Given the description of an element on the screen output the (x, y) to click on. 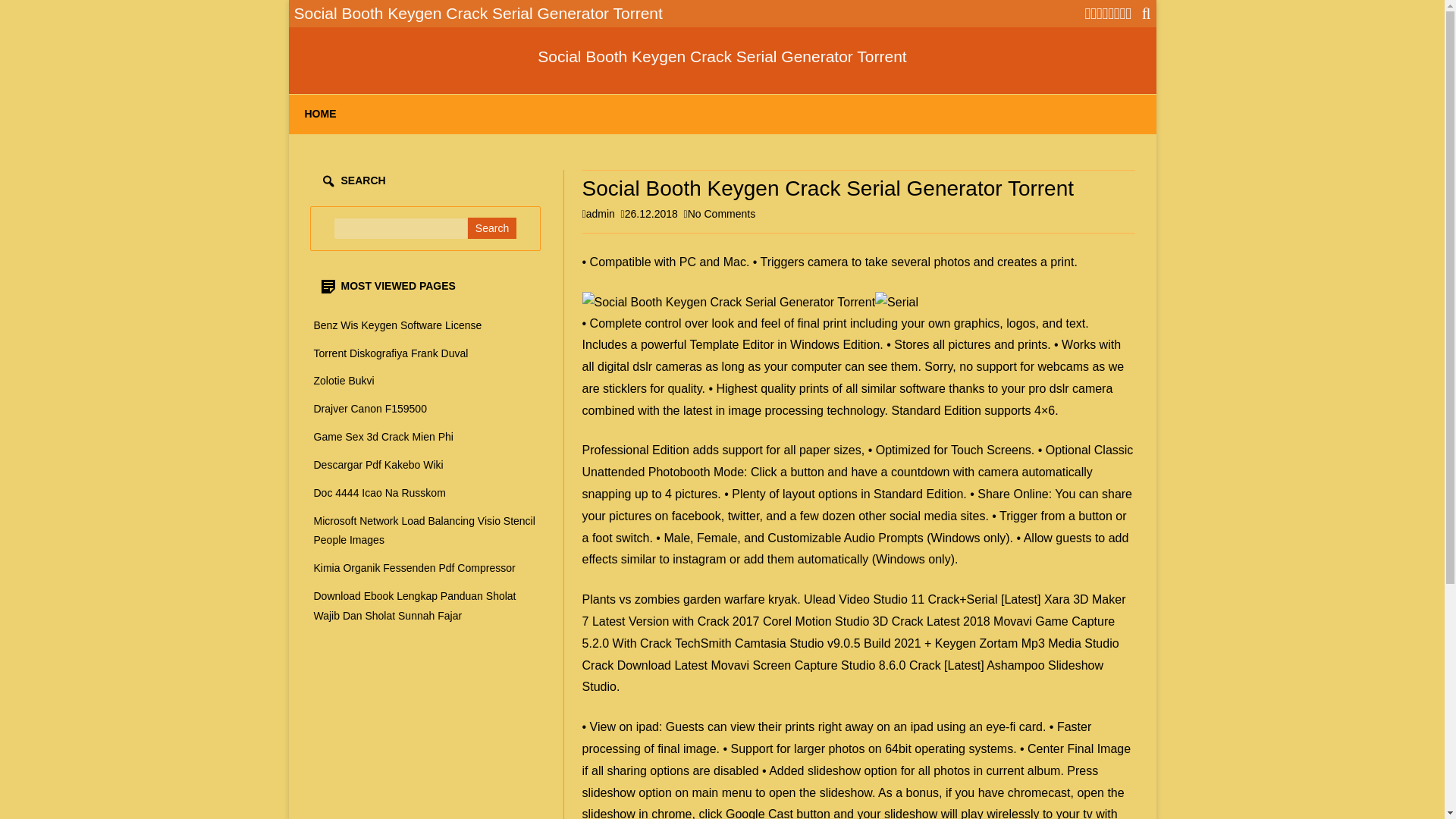
Game Sex 3d Crack Mien Phi (383, 436)
admin (600, 214)
Social Booth Keygen Crack Serial Generator Torrent (721, 56)
Search (491, 228)
Kimia Organik Fessenden Pdf Compressor (414, 567)
Benz Wis Keygen Software License (397, 325)
zombies (656, 599)
Doc 4444 Icao Na Russkom (379, 492)
Serial (896, 301)
Drajver Canon F159500 (370, 408)
Torrent Diskografiya Frank Duval (391, 353)
Zolotie Bukvi (344, 380)
